Given the description of an element on the screen output the (x, y) to click on. 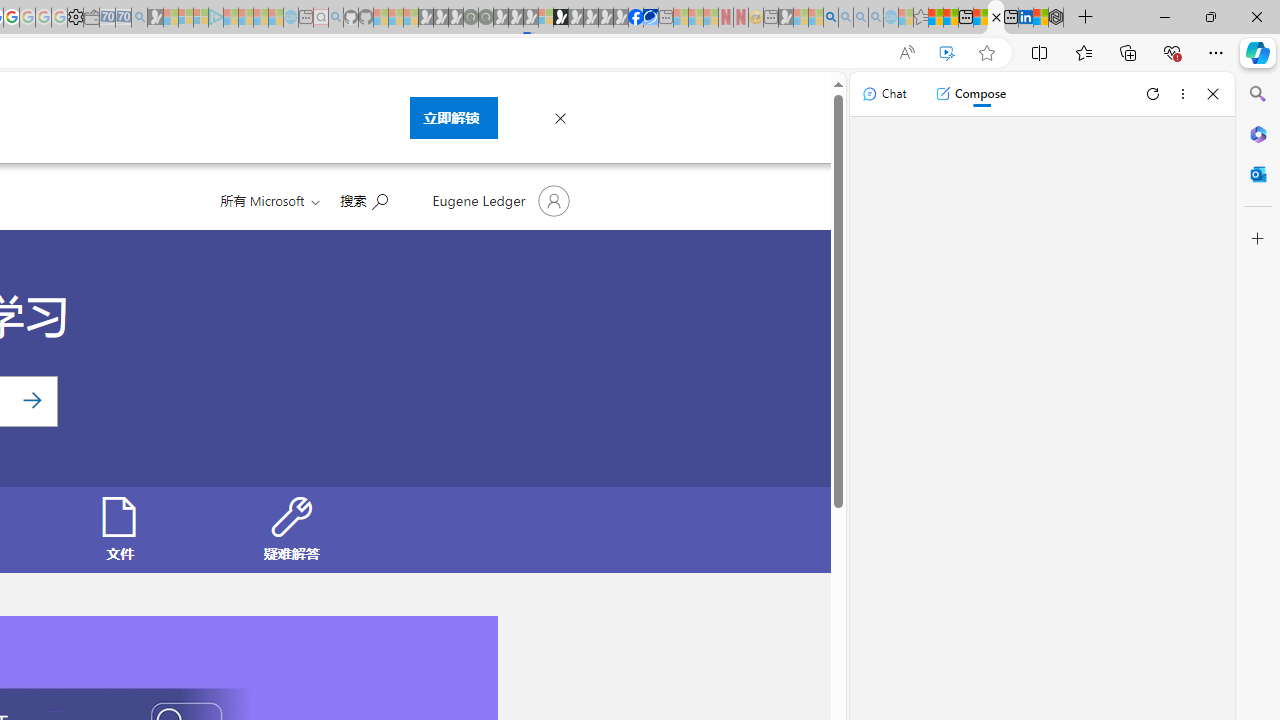
Microsoft Start - Sleeping (260, 17)
AQI & Health | AirNow.gov (650, 17)
More options (1182, 93)
Collections (1128, 52)
Microsoft 365 (1258, 133)
Split screen (1039, 52)
LinkedIn (1025, 17)
Copilot (Ctrl+Shift+.) (1258, 52)
Close Outlook pane (1258, 174)
